Given the description of an element on the screen output the (x, y) to click on. 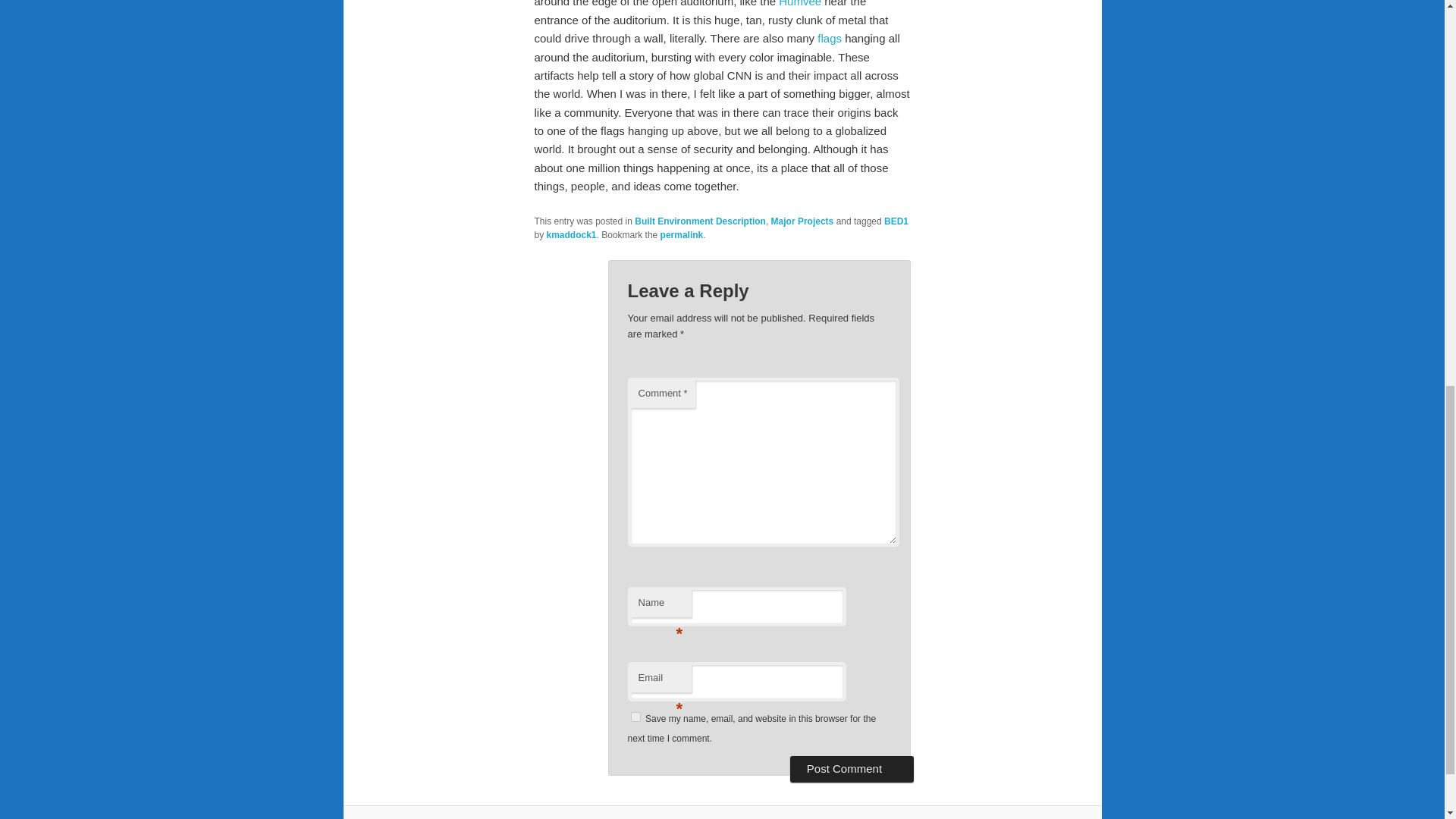
BED1 (895, 221)
Post Comment (852, 768)
flags (828, 38)
Built Environment Description (699, 221)
kmaddock1 (571, 235)
permalink (682, 235)
Major Projects (802, 221)
yes (635, 716)
Post Comment (852, 768)
Permalink to CNN Center Built Environment Description (682, 235)
Humvee (799, 3)
